Given the description of an element on the screen output the (x, y) to click on. 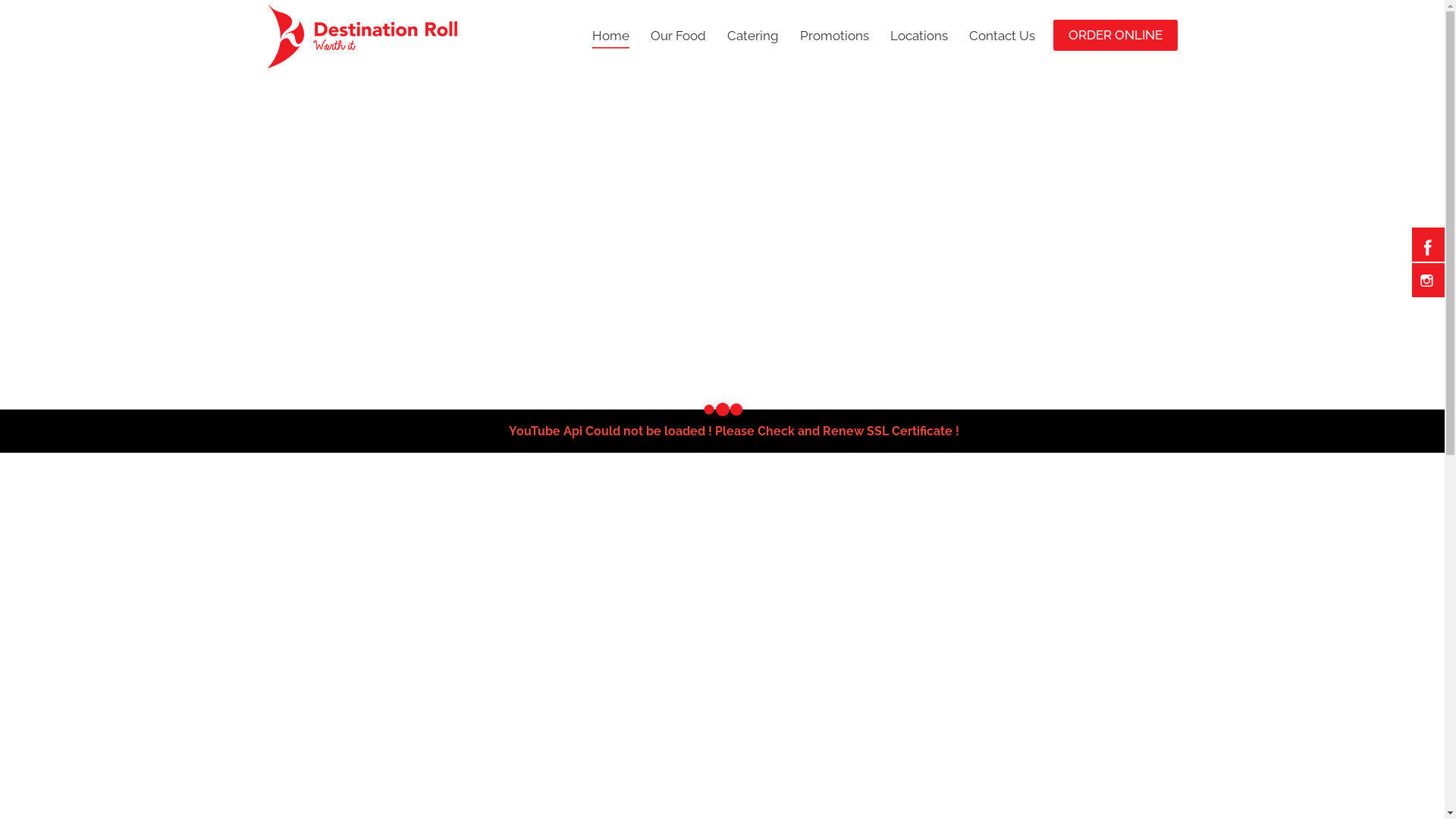
Our Food Element type: text (678, 35)
Home Element type: text (609, 35)
Contact Us Element type: text (1002, 35)
Locations Element type: text (918, 35)
ORDER ONLINE Element type: text (1114, 34)
Promotions Element type: text (833, 35)
Catering Element type: text (752, 35)
